Given the description of an element on the screen output the (x, y) to click on. 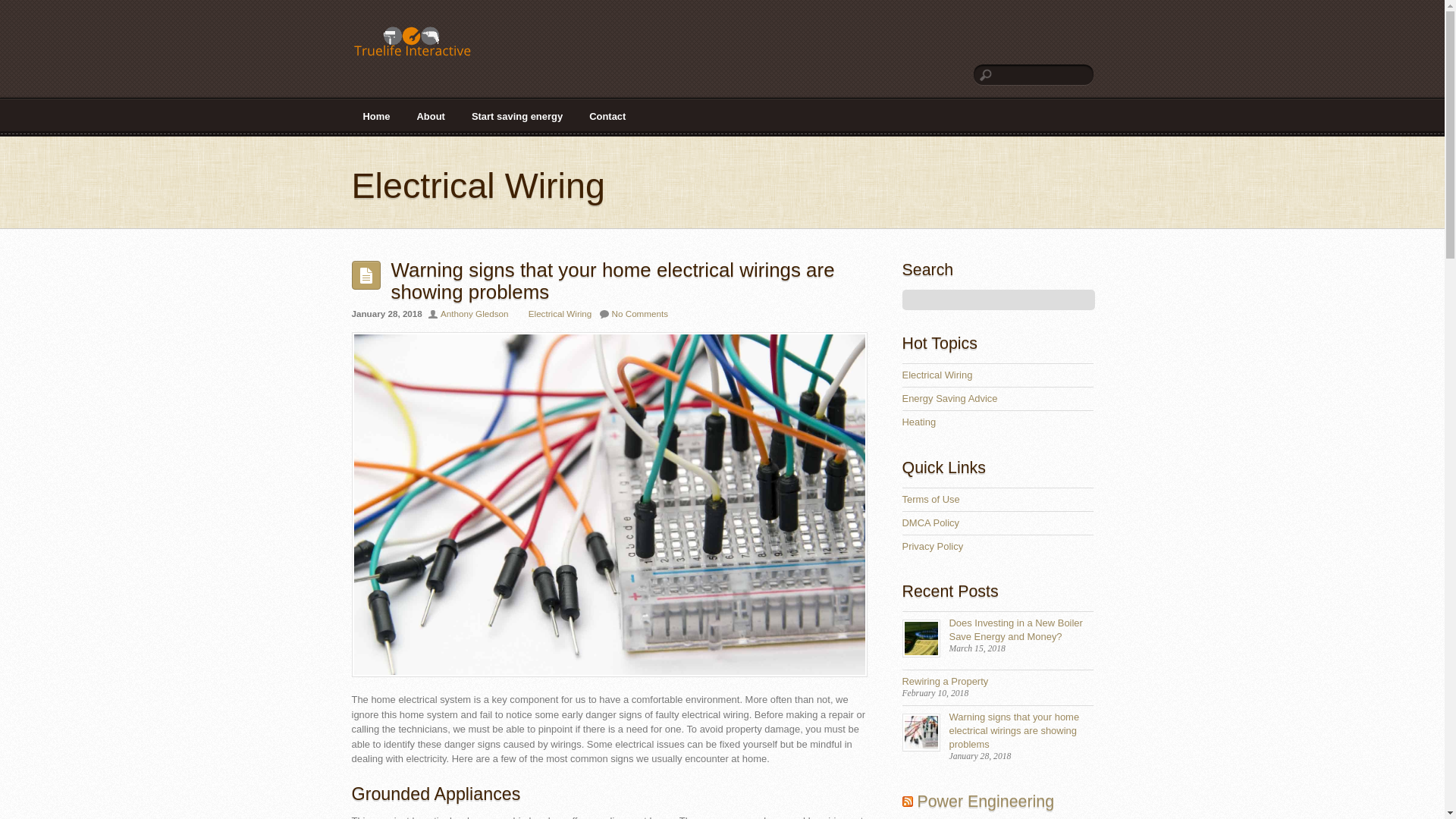
Search (1033, 74)
Truelife Interactive (413, 46)
Energy Saving Advice (949, 398)
Rewiring a Property (945, 681)
Electrical Wiring (560, 313)
Home (376, 116)
Terms of Use (930, 499)
Privacy Policy (932, 546)
Electrical Wiring (937, 374)
Does Investing in a New Boiler Save Energy and Money? (1016, 629)
Search (998, 299)
Start saving energy (516, 116)
No Comments (639, 313)
About (429, 116)
